Given the description of an element on the screen output the (x, y) to click on. 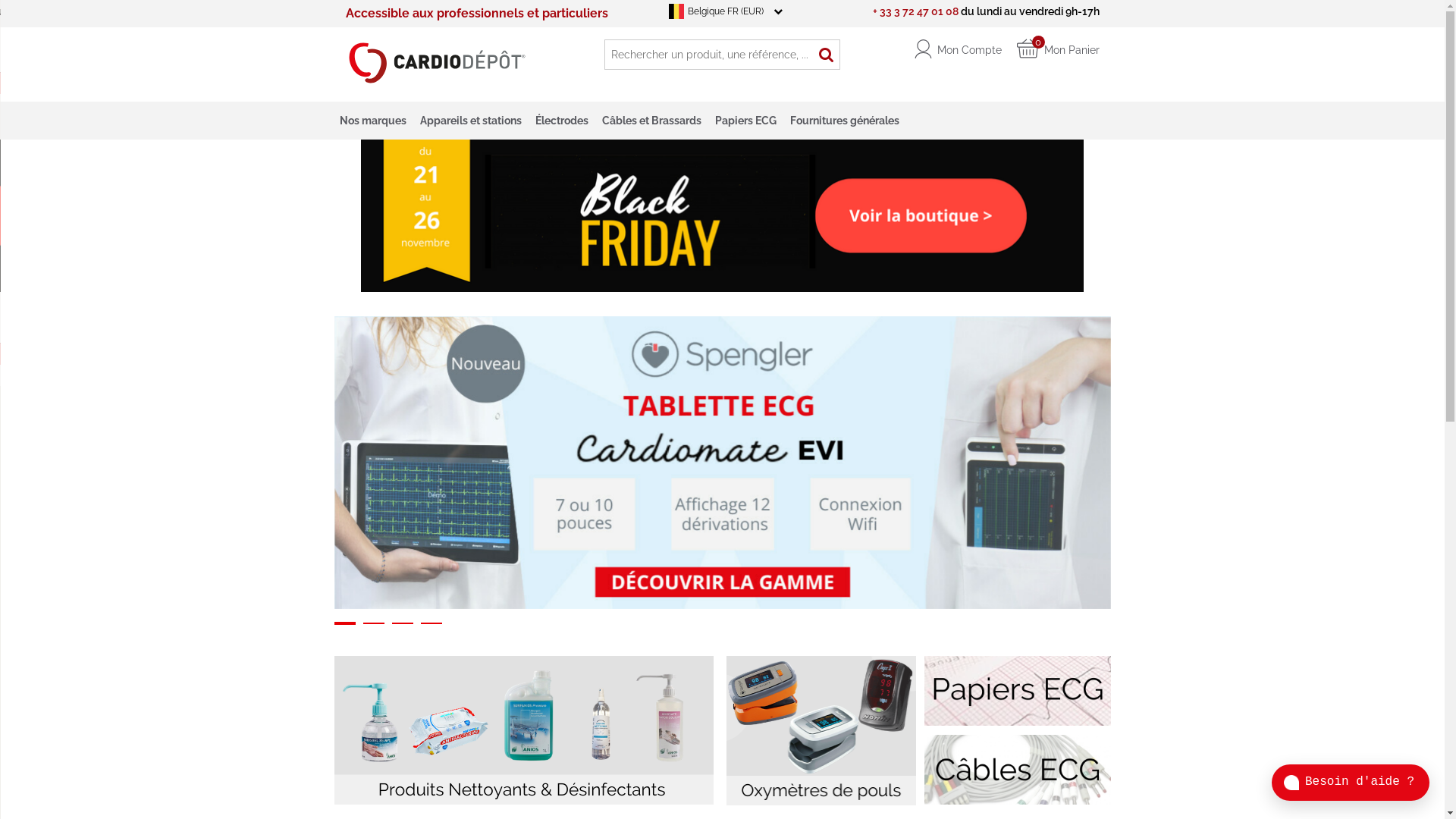
4 Element type: text (430, 622)
Papiers ECG Element type: text (745, 120)
Previous Element type: text (322, 462)
Appareils et stations Element type: text (470, 120)
Mon Compte Element type: text (961, 47)
3 Element type: text (401, 622)
1 Element type: text (343, 622)
Next Element type: text (1121, 462)
Belgique FR (EUR) Element type: text (754, 10)
2 Element type: text (372, 622)
+ 33 3 72 47 01 08 Element type: text (914, 11)
Nos marques Element type: text (372, 120)
0
Mon Panier Element type: text (1061, 47)
